Given the description of an element on the screen output the (x, y) to click on. 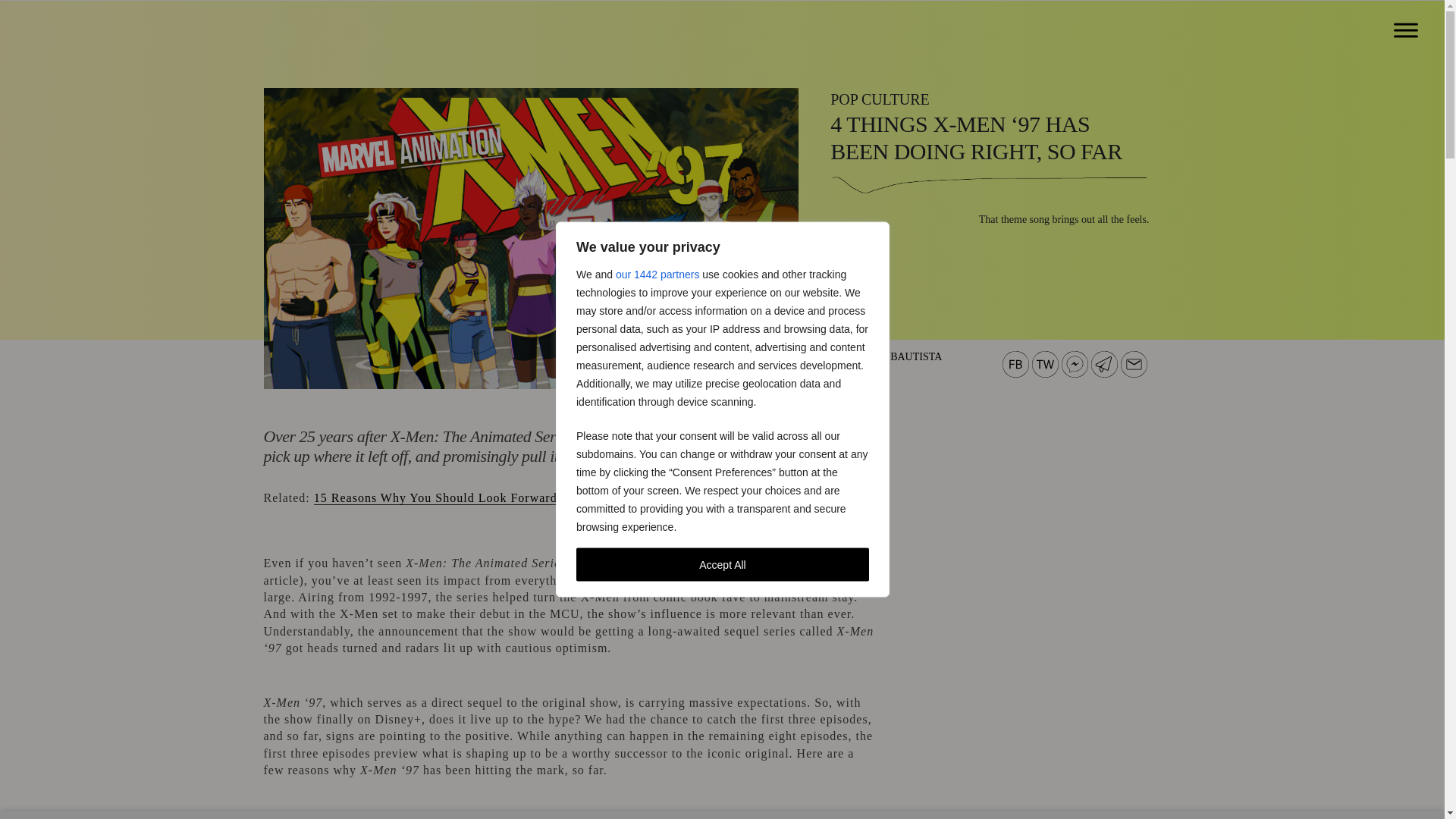
Accept All (722, 563)
our 1442 partners (656, 274)
